Given the description of an element on the screen output the (x, y) to click on. 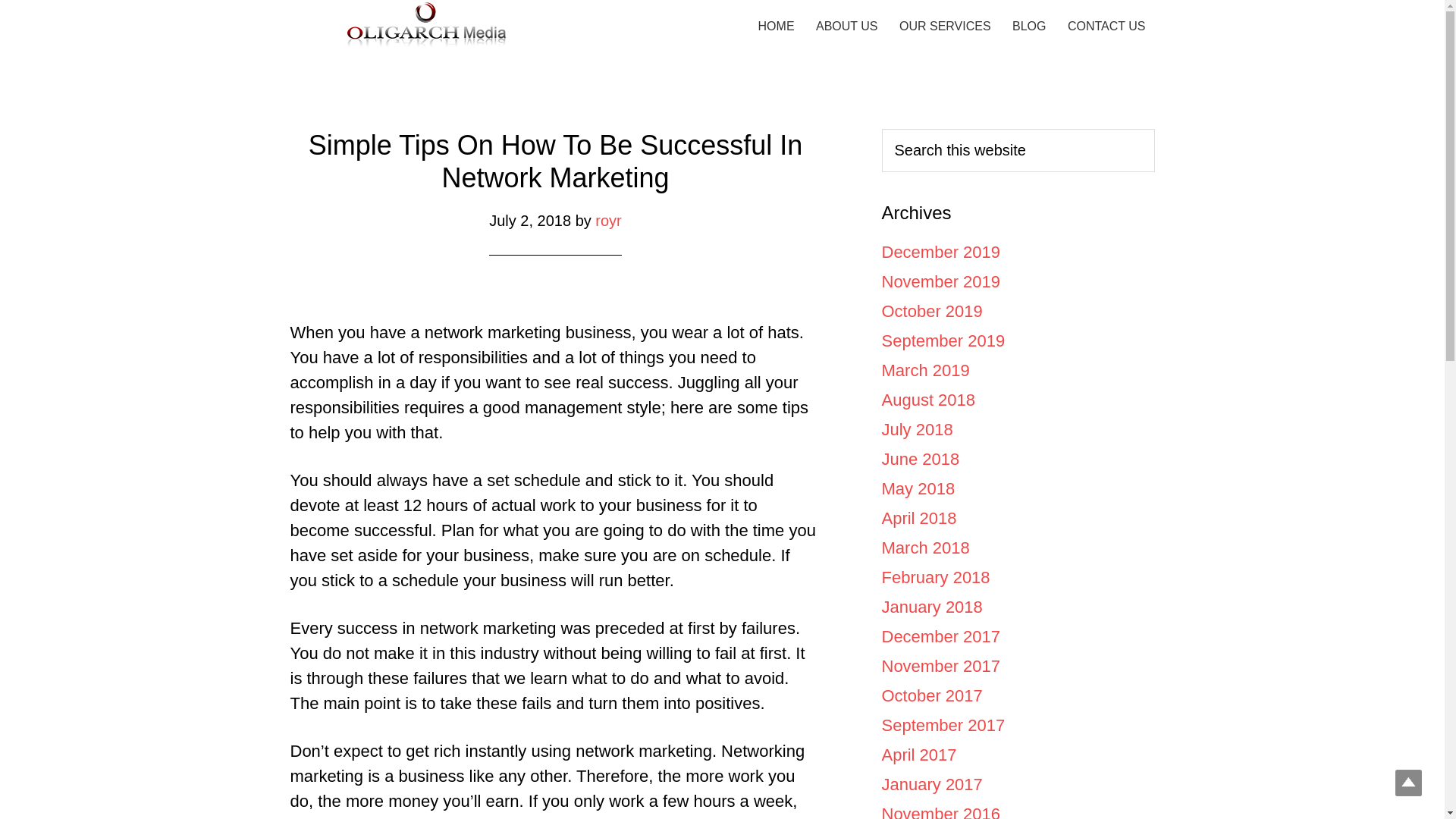
January 2017 (930, 783)
September 2017 (942, 724)
March 2018 (924, 547)
January 2018 (930, 606)
March 2019 (924, 370)
May 2018 (917, 488)
November 2016 (940, 811)
CONTACT US (1106, 26)
